Given the description of an element on the screen output the (x, y) to click on. 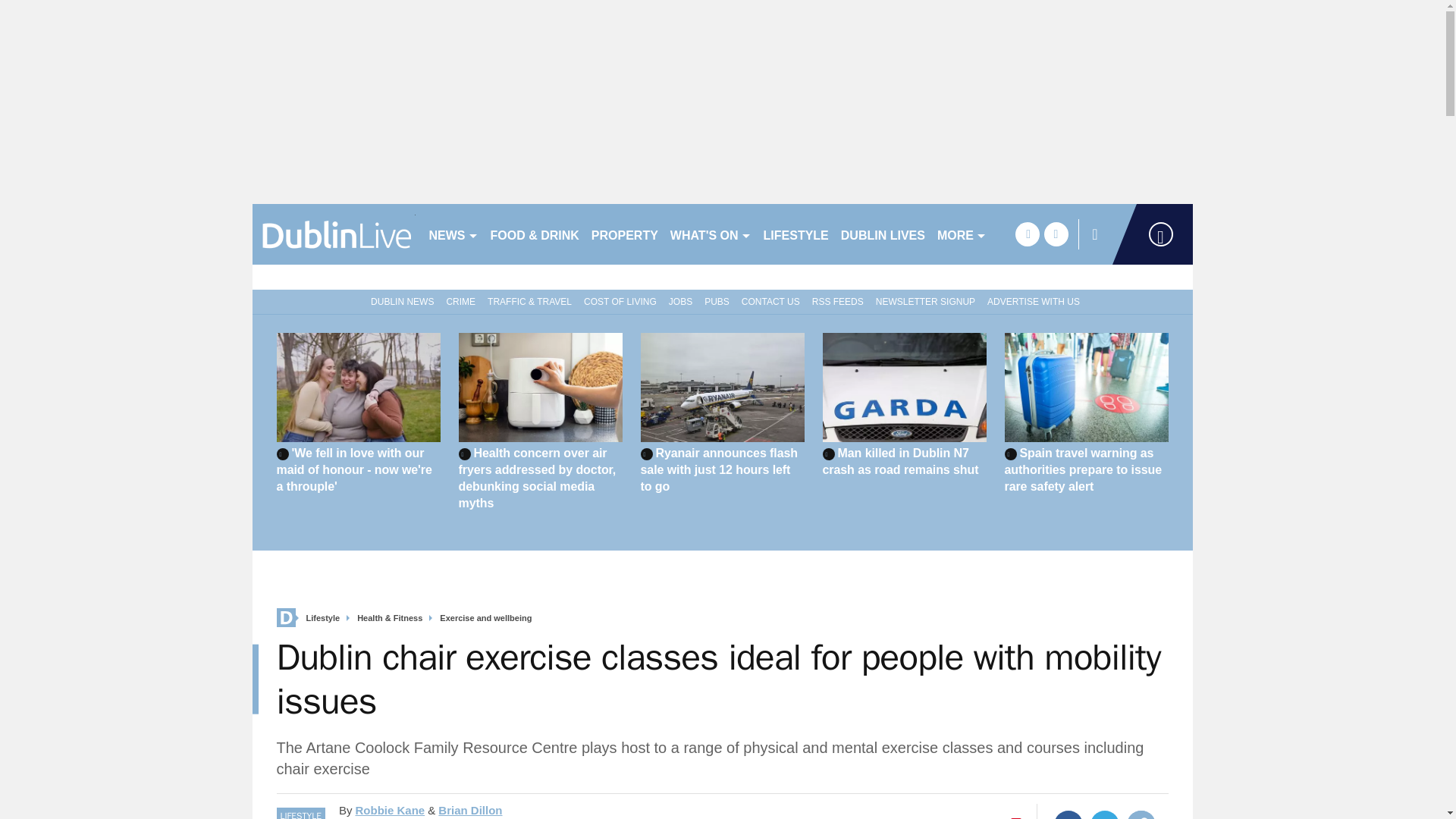
NEWS (453, 233)
Facebook (1068, 814)
DUBLIN LIVES (882, 233)
MORE (961, 233)
facebook (1026, 233)
twitter (1055, 233)
dublinlive (332, 233)
Twitter (1104, 814)
LIFESTYLE (795, 233)
WHAT'S ON (710, 233)
